Given the description of an element on the screen output the (x, y) to click on. 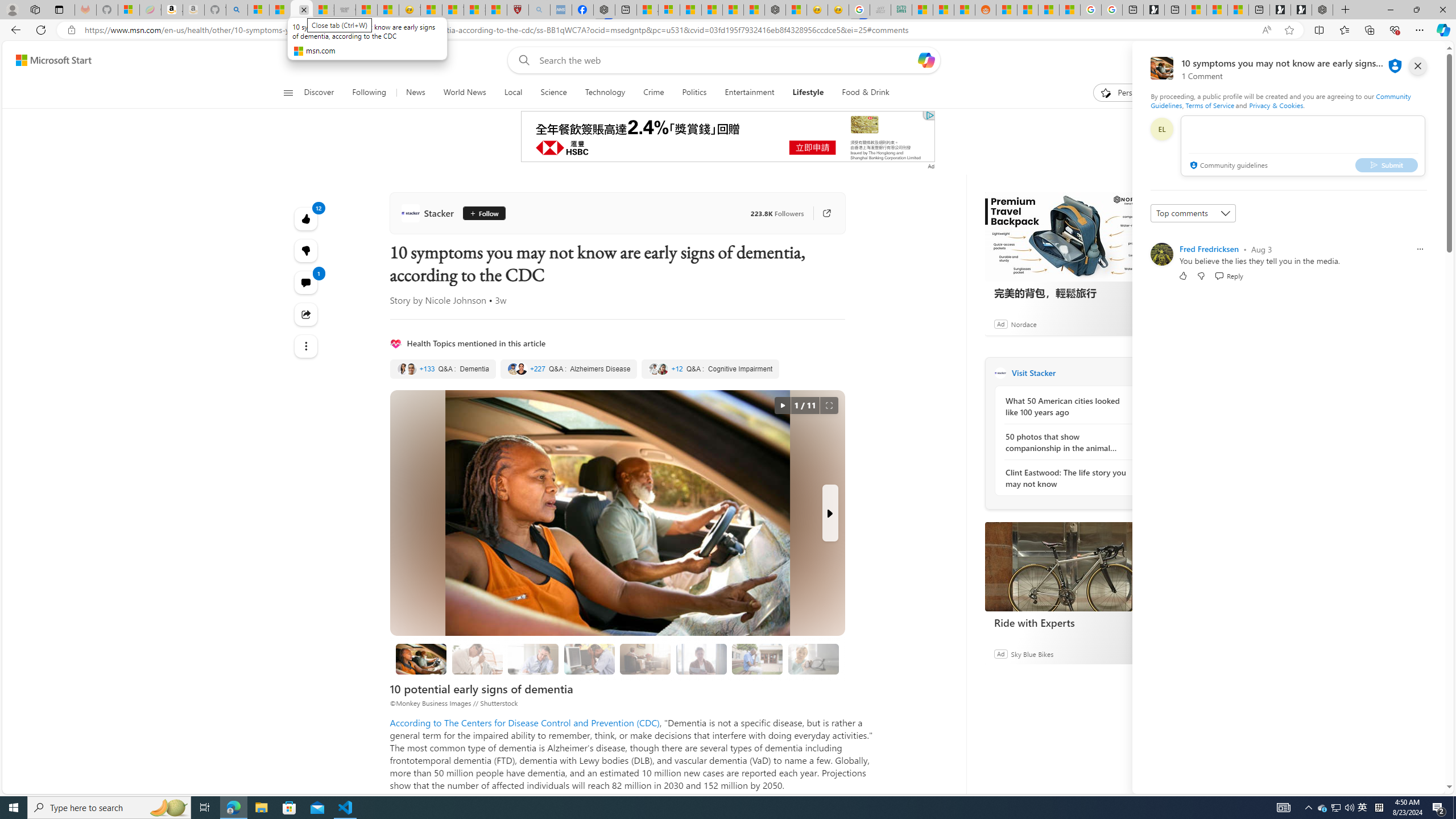
Dislike (1200, 275)
Crime (653, 92)
Science - MSN (474, 9)
10 potential early signs of dementia (421, 659)
New problems with words in speaking or writing (757, 658)
Skip to footer (46, 59)
Class: qc-adchoices-link top-right  (928, 114)
Community Guidelines (1280, 100)
Address and search bar (669, 29)
Science (553, 92)
Stacker (429, 212)
